Given the description of an element on the screen output the (x, y) to click on. 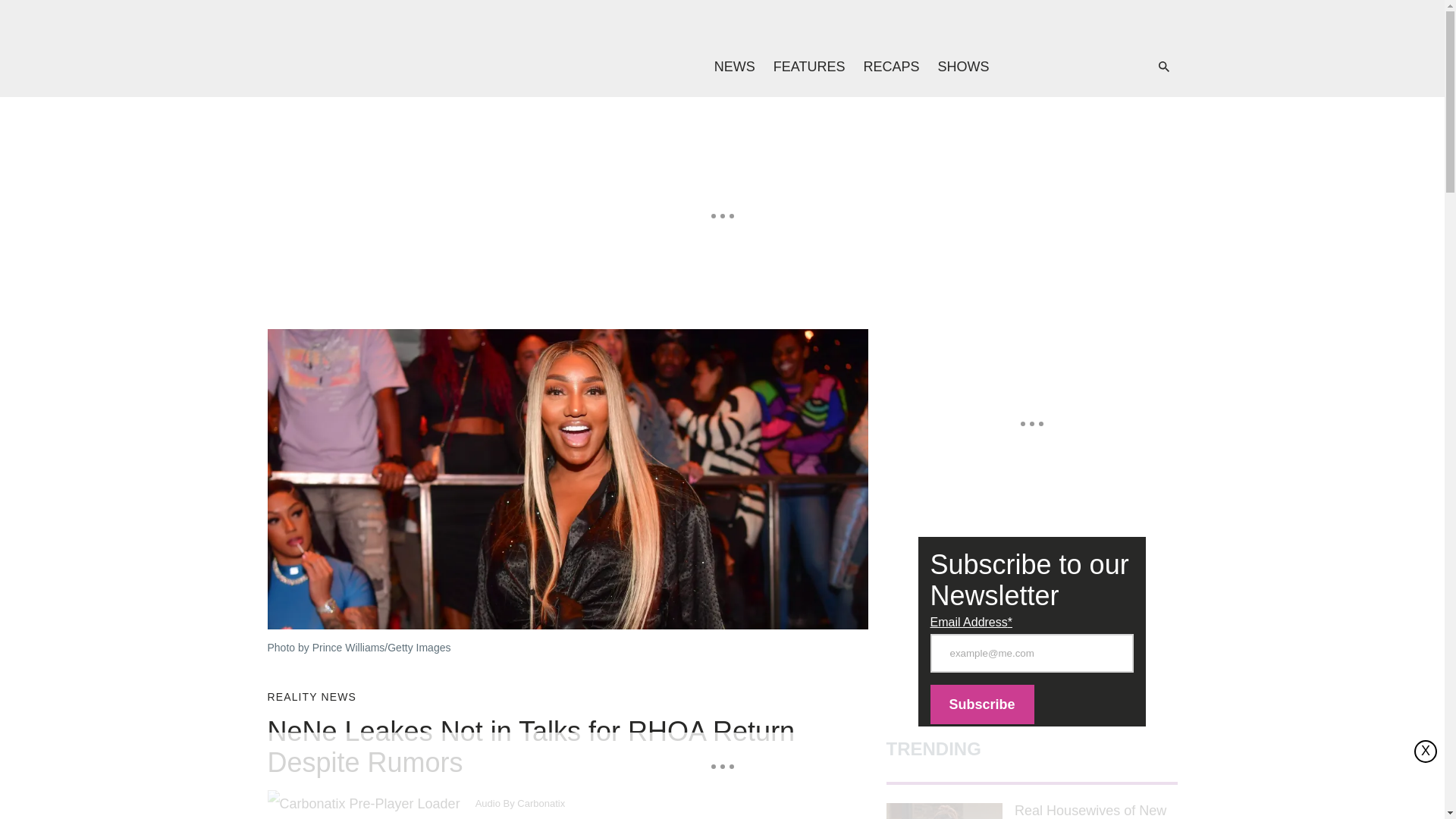
RECAPS (890, 66)
Pinterest (1109, 66)
NEWS (734, 66)
SHOWS (962, 66)
REALITY NEWS (310, 697)
Facebook (1048, 66)
Twitter (1079, 66)
FEATURES (809, 66)
